Given the description of an element on the screen output the (x, y) to click on. 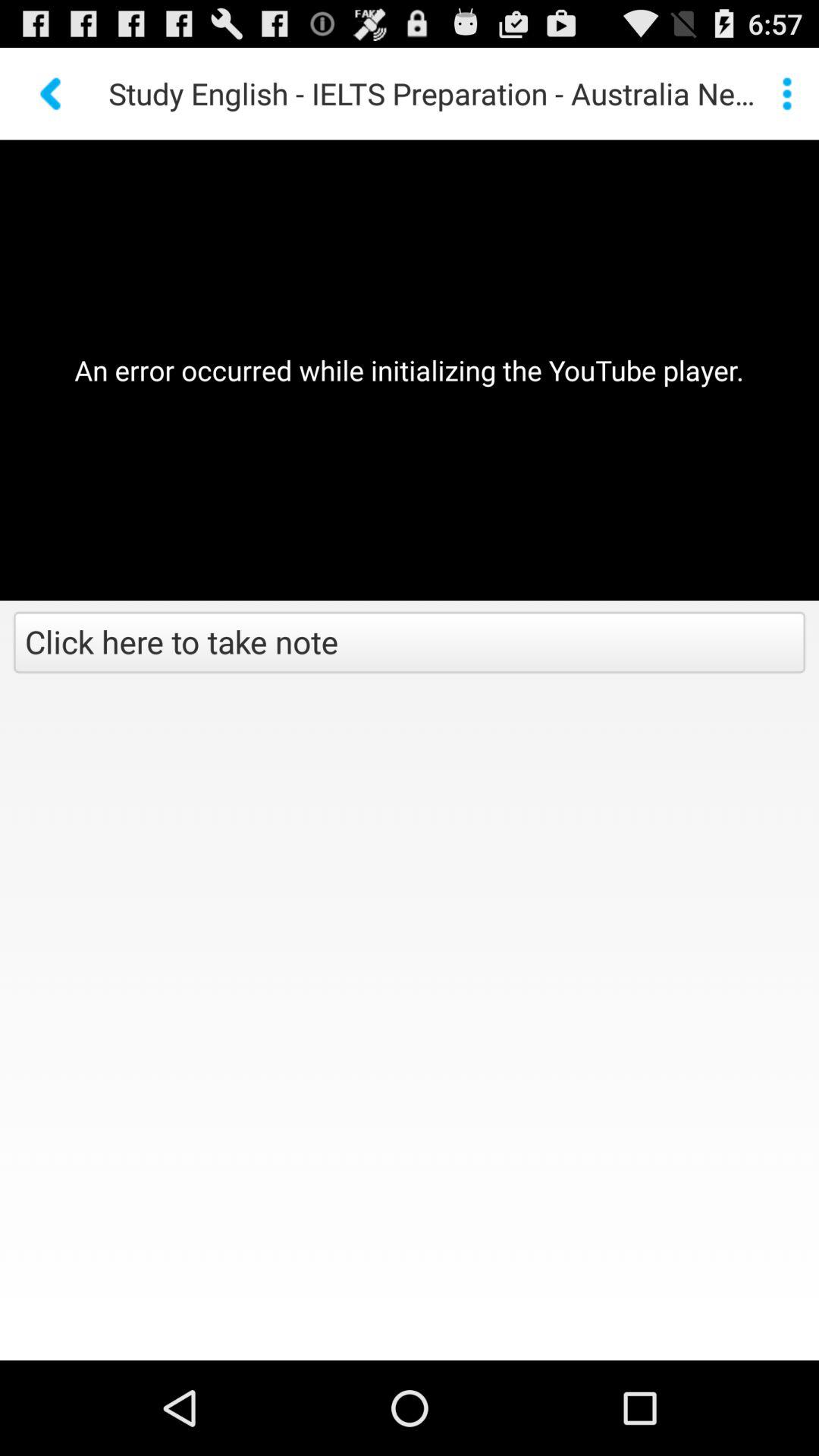
press the item at the top right corner (787, 93)
